Given the description of an element on the screen output the (x, y) to click on. 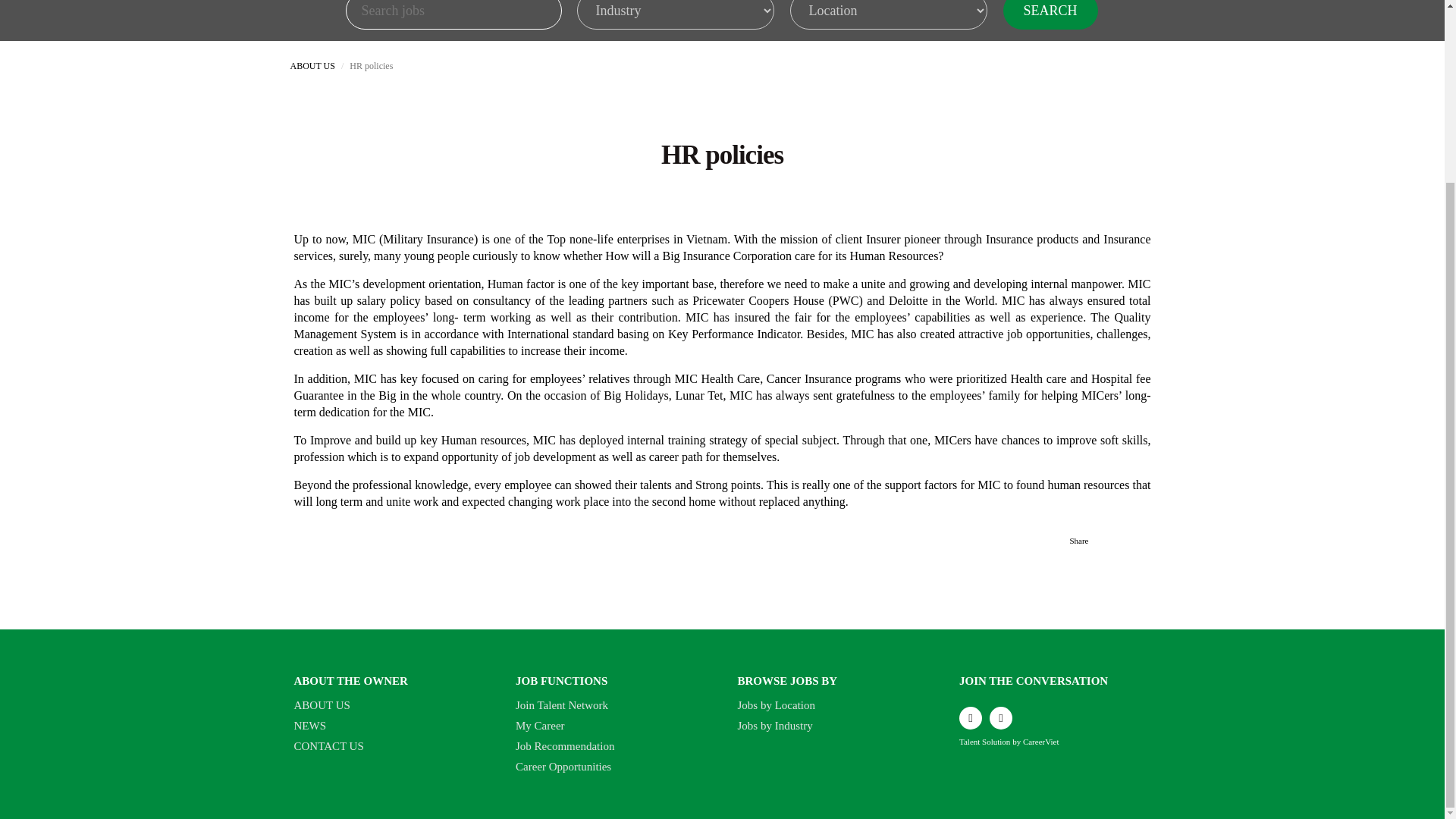
Job Recommendation (611, 746)
ABOUT US (390, 705)
NEWS (390, 725)
youtube (1000, 717)
facebook (970, 717)
My Career (611, 725)
CONTACT US (390, 746)
CareerViet (1041, 741)
SEARCH (1050, 14)
Join Talent Network (611, 705)
